Given the description of an element on the screen output the (x, y) to click on. 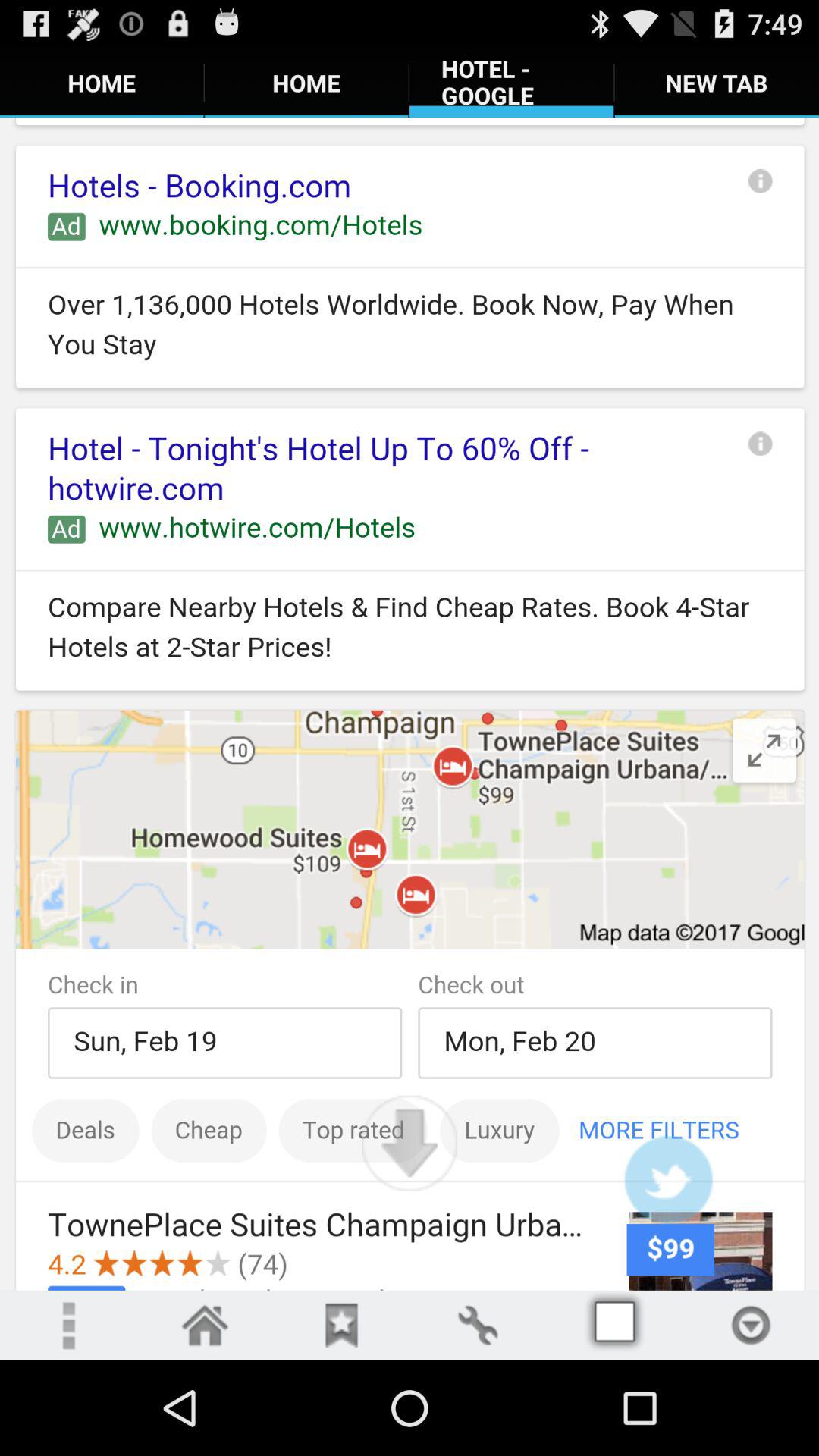
scroll down (409, 1142)
